Given the description of an element on the screen output the (x, y) to click on. 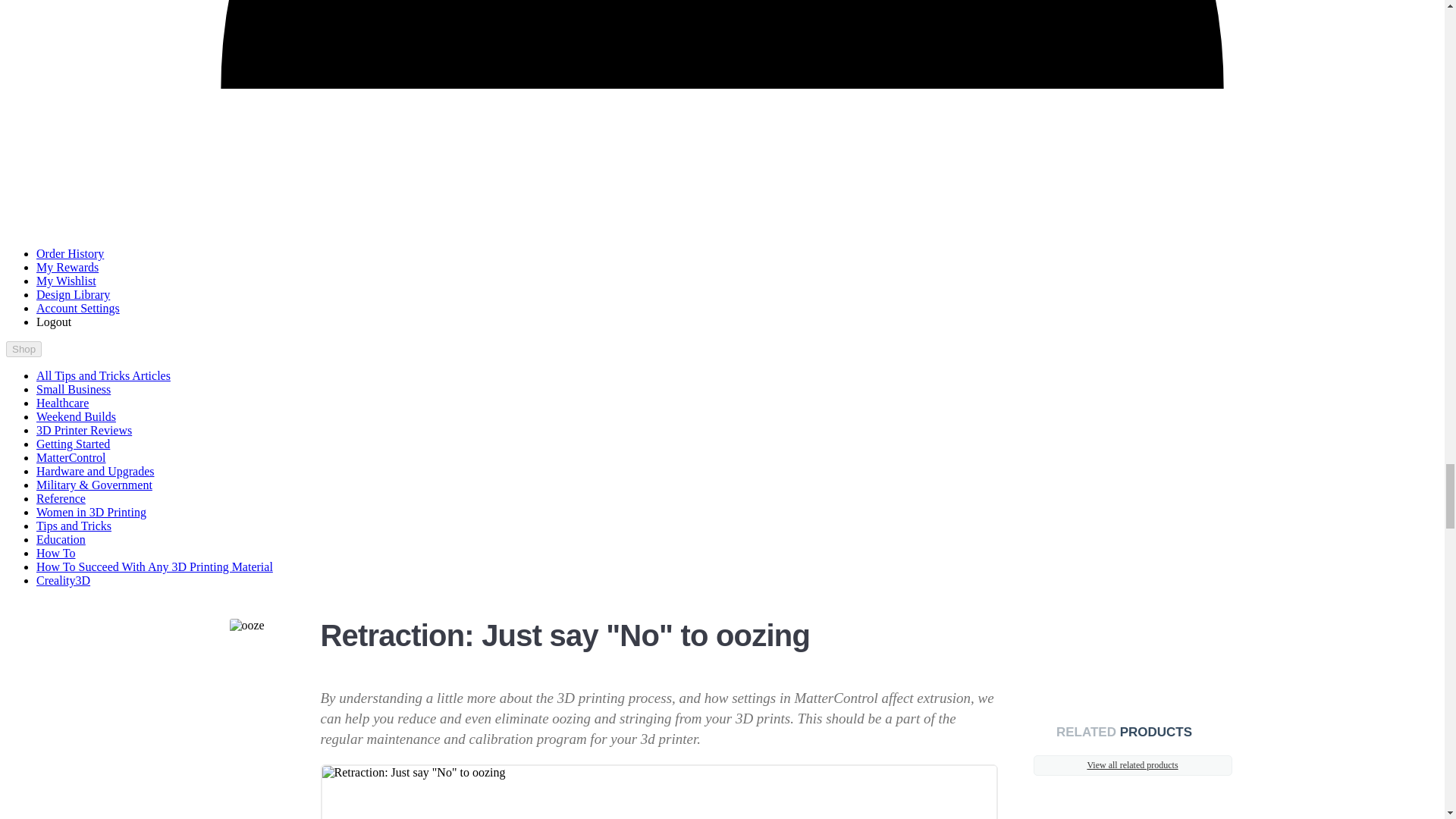
Design Library (73, 294)
ooze (245, 625)
Shop (23, 349)
Untangle (659, 791)
My Wishlist (66, 280)
My Rewards (67, 267)
Account Settings (77, 308)
Order History (69, 253)
